Given the description of an element on the screen output the (x, y) to click on. 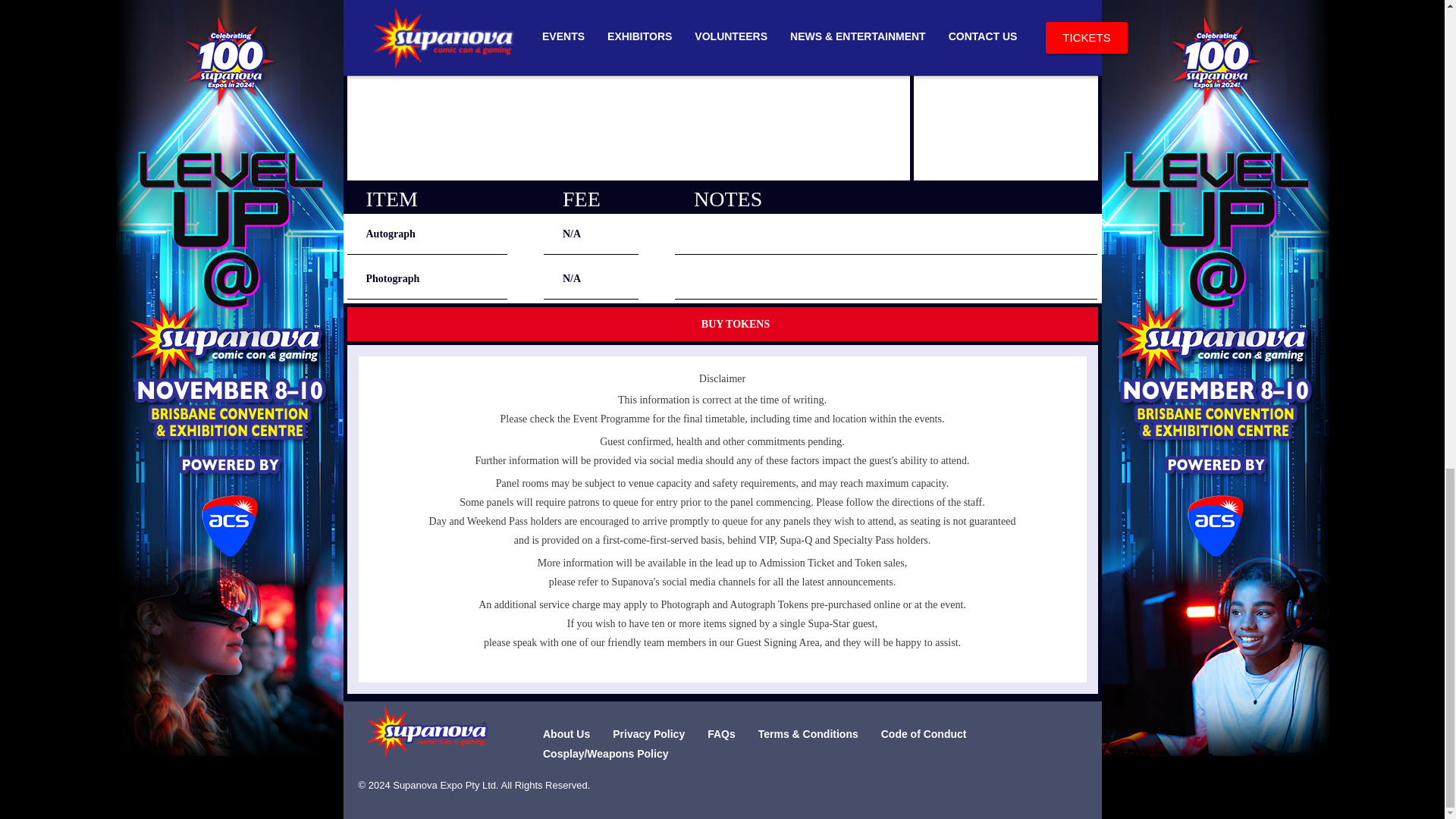
About Us (566, 734)
FAQs (721, 734)
Privacy Policy (648, 734)
Code of Conduct (923, 734)
BUY TOKENS (722, 322)
